Given the description of an element on the screen output the (x, y) to click on. 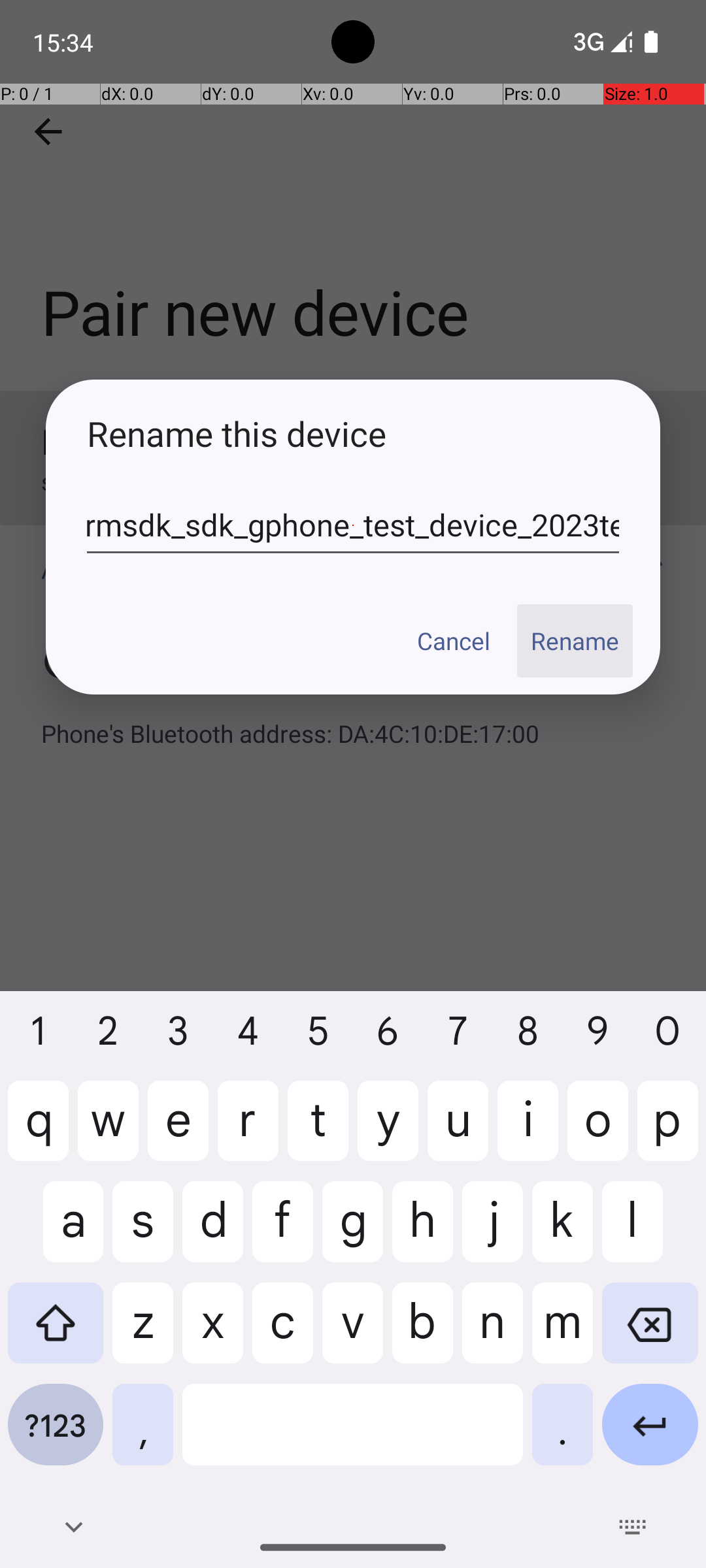
sdk_gphone64_armsdk_sdk_gphone_test_device_2023test_device_202364 Element type: android.widget.EditText (352, 525)
